Given the description of an element on the screen output the (x, y) to click on. 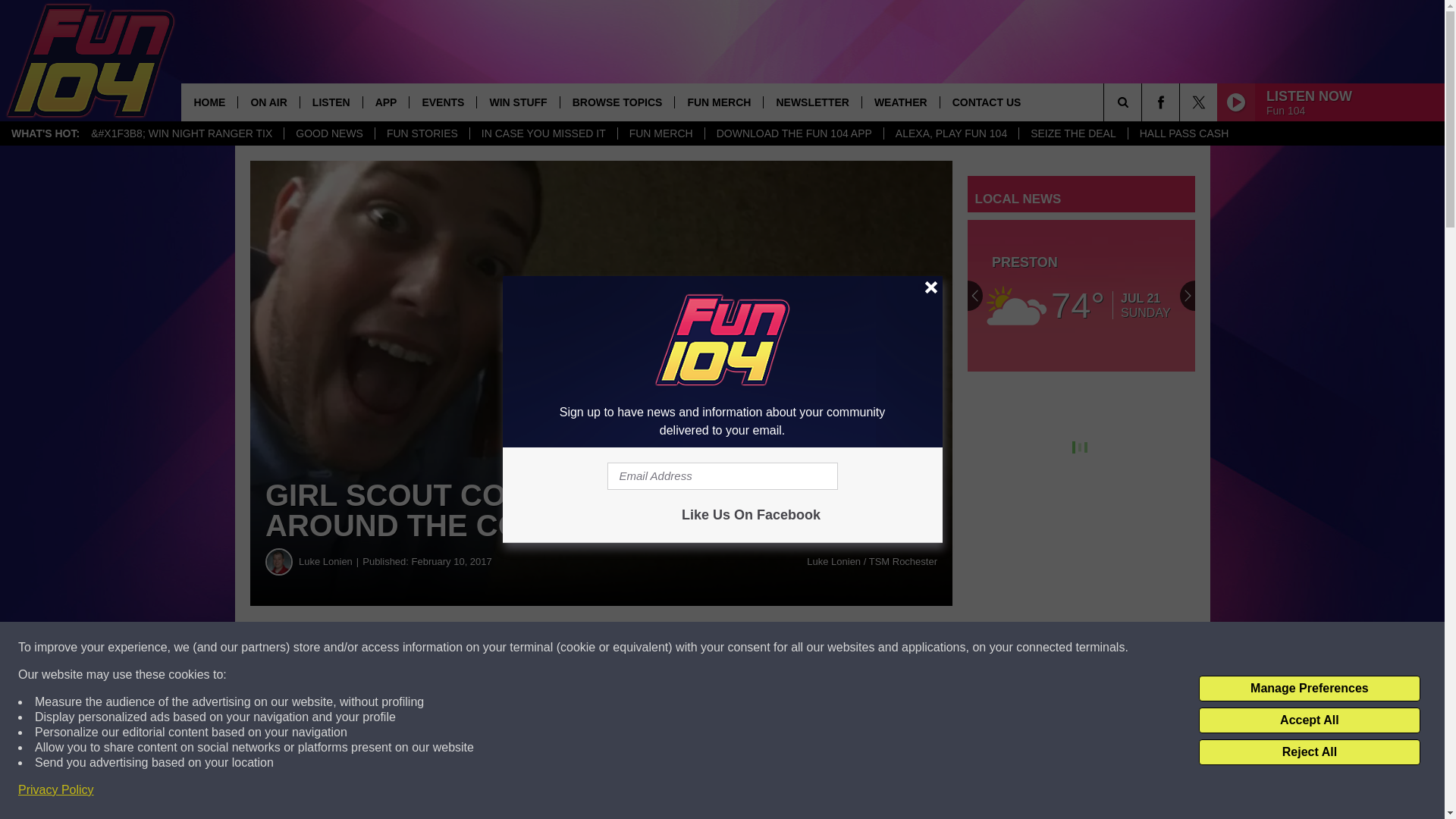
APP (385, 102)
ON AIR (267, 102)
Share on Twitter (741, 647)
Privacy Policy (55, 789)
Accept All (1309, 720)
SEIZE THE DEAL (1071, 133)
FUN STORIES (421, 133)
Manage Preferences (1309, 688)
HALL PASS CASH (1183, 133)
DOWNLOAD THE FUN 104 APP (793, 133)
LISTEN (330, 102)
Preston Weather (1081, 295)
HOME (208, 102)
IN CASE YOU MISSED IT (542, 133)
WIN STUFF (517, 102)
